Given the description of an element on the screen output the (x, y) to click on. 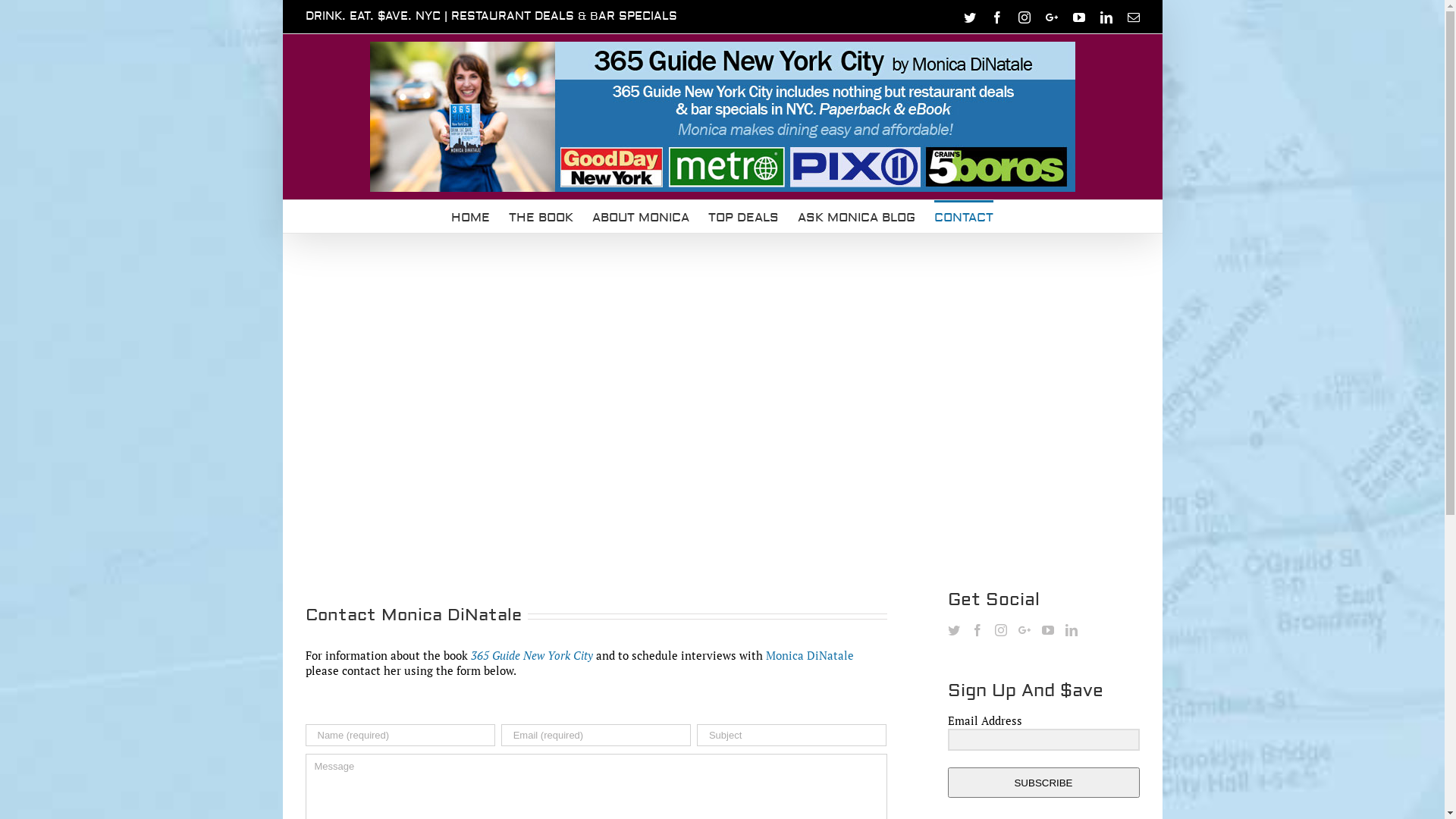
Monica DiNatale Element type: text (809, 654)
SUBSCRIBE Element type: text (1043, 782)
HOME Element type: text (470, 216)
Google+ Element type: text (1050, 16)
ABOUT MONICA Element type: text (640, 216)
ASK MONICA BLOG Element type: text (856, 216)
Twitter Element type: text (969, 16)
CONTACT Element type: text (963, 216)
THE BOOK Element type: text (540, 216)
Facebook Element type: text (996, 16)
Linkedin Element type: text (1105, 16)
365 Guide New York City Element type: text (531, 654)
YouTube Element type: text (1078, 16)
Email Element type: text (1132, 16)
Instagram Element type: text (1023, 16)
TOP DEALS Element type: text (743, 216)
